Given the description of an element on the screen output the (x, y) to click on. 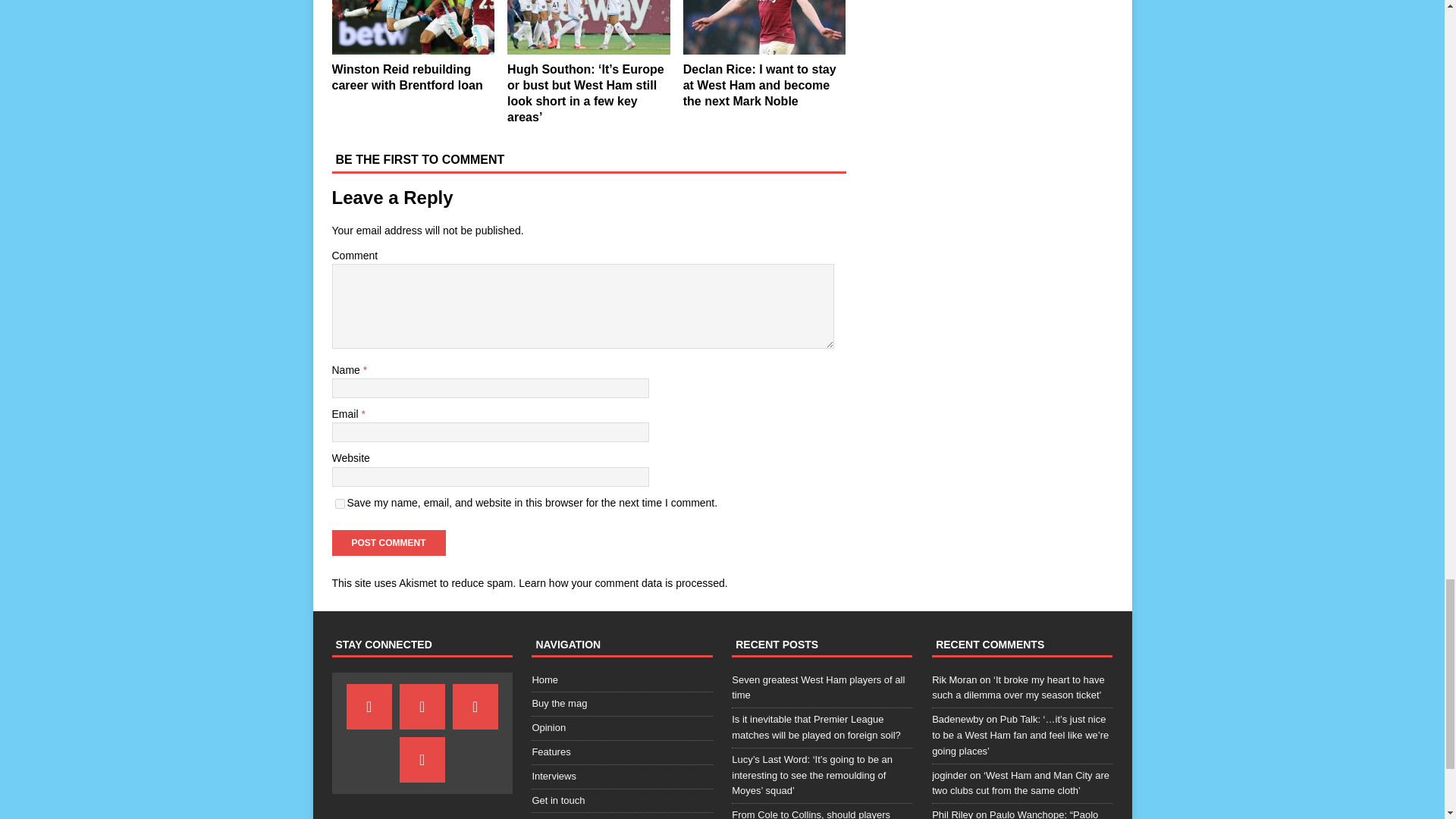
yes (339, 503)
Post Comment (388, 542)
